Given the description of an element on the screen output the (x, y) to click on. 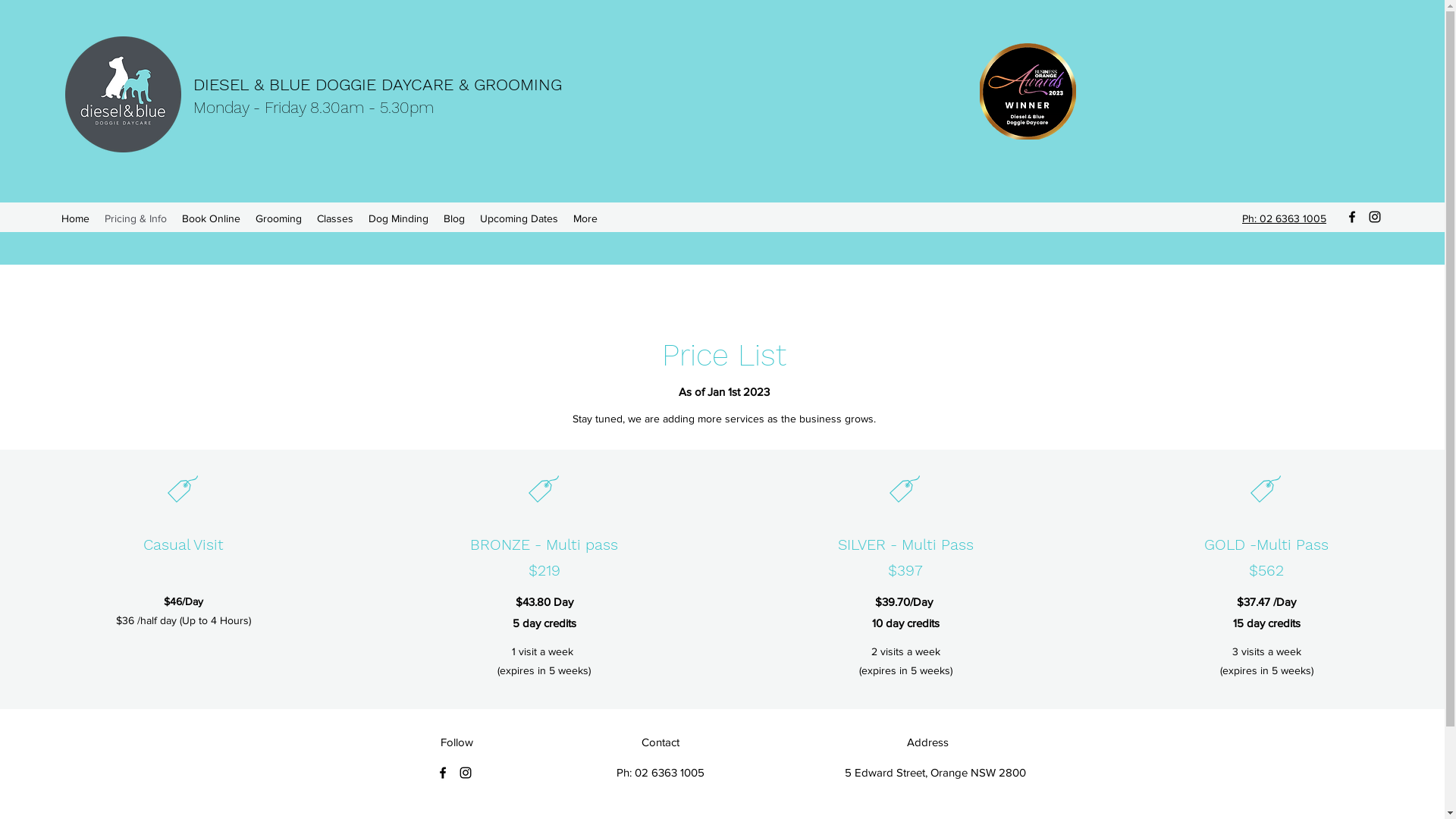
Book Online Element type: text (210, 218)
Blog Element type: text (454, 218)
Embedded Content Element type: hover (1232, 95)
Classes Element type: text (334, 218)
Pricing & Info Element type: text (135, 218)
Ph: 02 6363 1005 Element type: text (1284, 218)
Home Element type: text (75, 218)
Upcoming Dates Element type: text (518, 218)
Grooming Element type: text (278, 218)
Dog Minding Element type: text (398, 218)
